Given the description of an element on the screen output the (x, y) to click on. 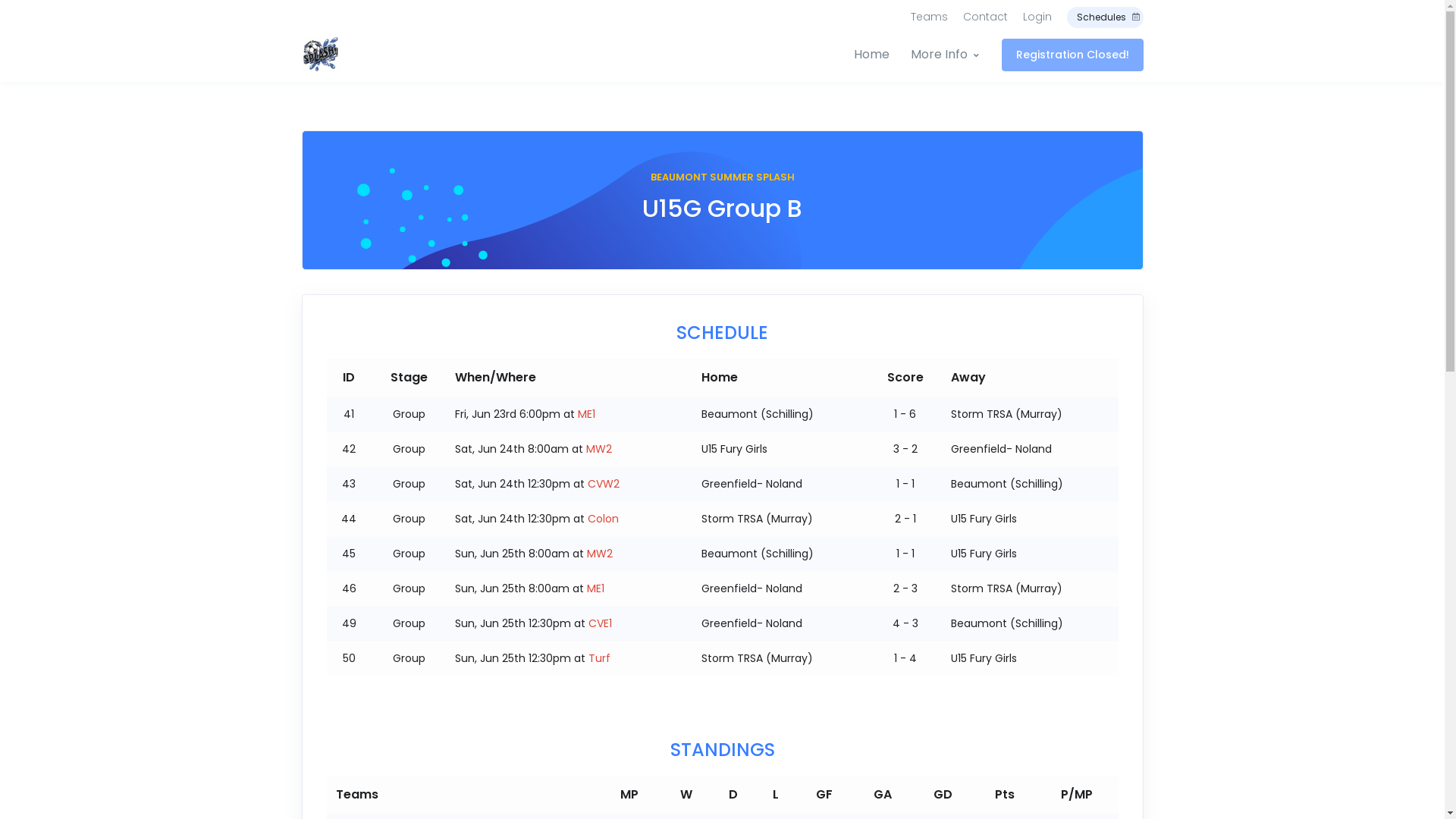
Home Element type: text (876, 54)
More Info Element type: text (943, 54)
Colon Element type: text (602, 518)
Registration Closed! Element type: text (1071, 53)
CVW2 Element type: text (603, 483)
MW2 Element type: text (598, 448)
ME1 Element type: text (586, 413)
BEAUMONT SUMMER SPLASH
U15G Group B Element type: text (722, 199)
Turf Element type: text (599, 657)
ME1 Element type: text (595, 588)
Contact Element type: text (985, 16)
CVE1 Element type: text (599, 622)
Teams Element type: text (928, 16)
Schedules Element type: text (1104, 17)
MW2 Element type: text (599, 553)
Login Element type: text (1036, 16)
